Given the description of an element on the screen output the (x, y) to click on. 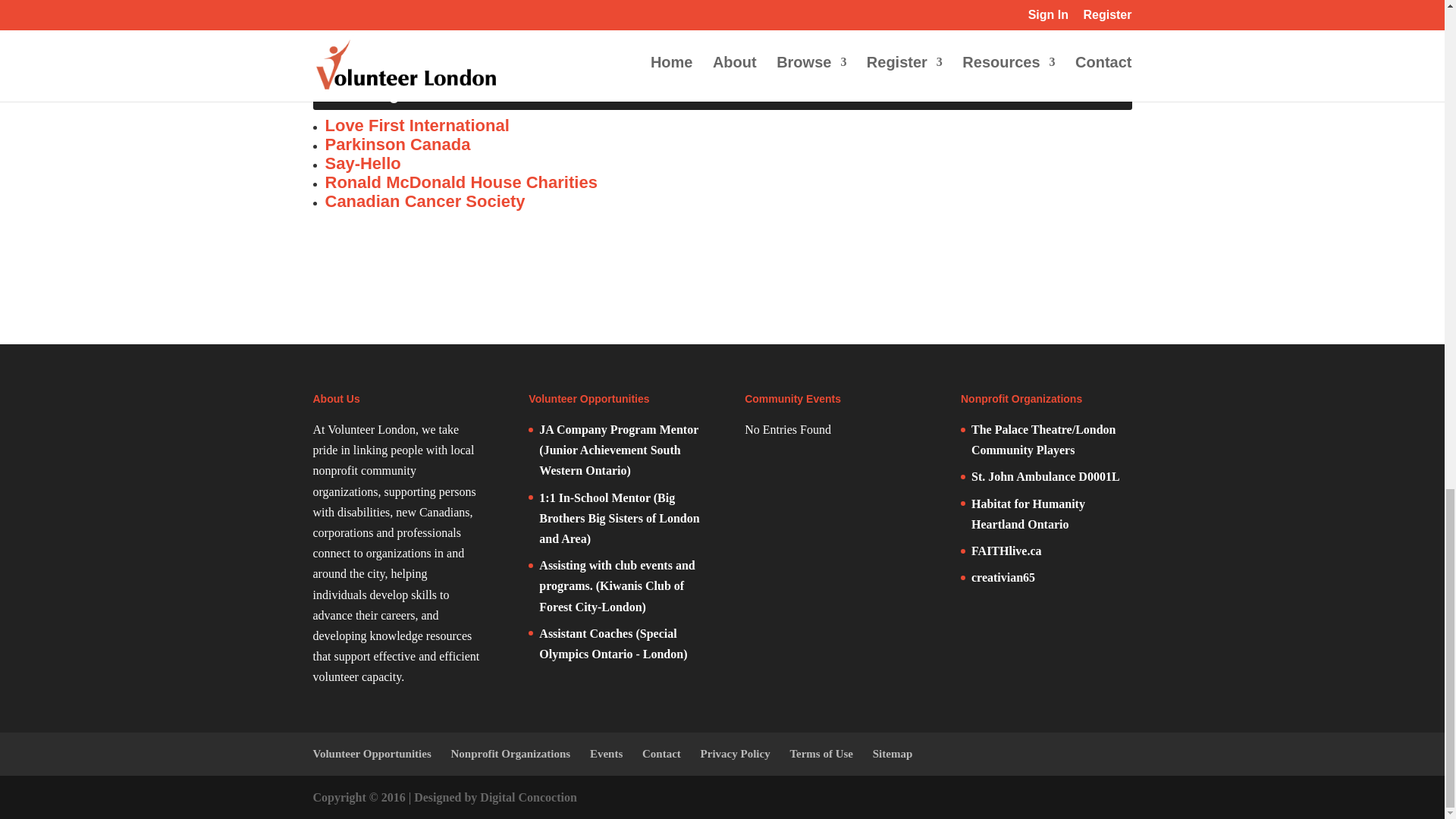
Volunteer Opportunities (371, 753)
Send (339, 24)
Parkinson Canada (397, 144)
Say-Hello (362, 162)
creativian65 (1003, 576)
St. John Ambulance D0001L (1045, 476)
Ronald McDonald House Charities (460, 181)
FAITHlive.ca (1006, 550)
Habitat for Humanity Heartland Ontario (1027, 513)
Canadian Cancer Society (424, 200)
Send (339, 24)
Love First International (416, 125)
